Given the description of an element on the screen output the (x, y) to click on. 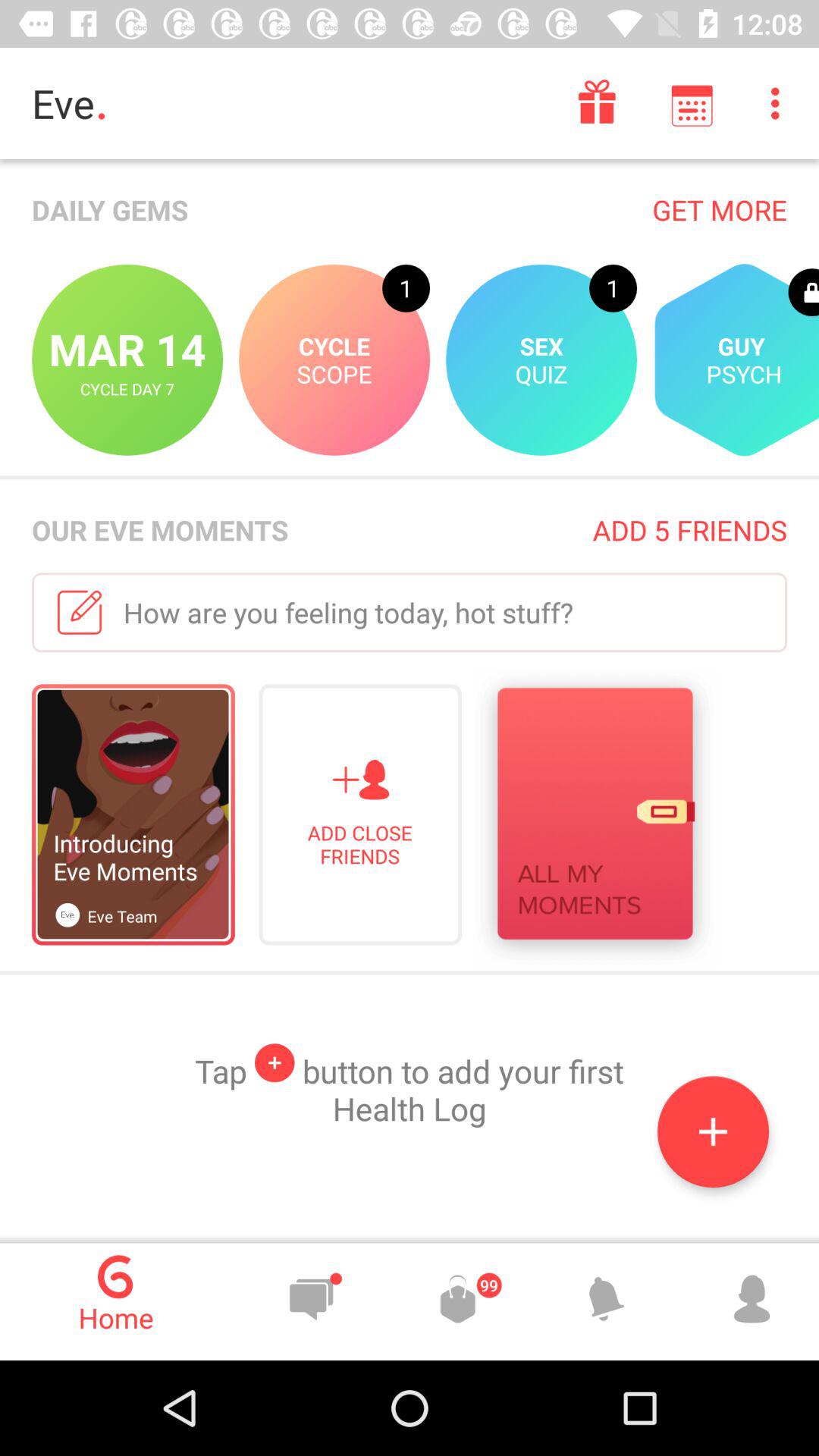
add health log (712, 1131)
